Given the description of an element on the screen output the (x, y) to click on. 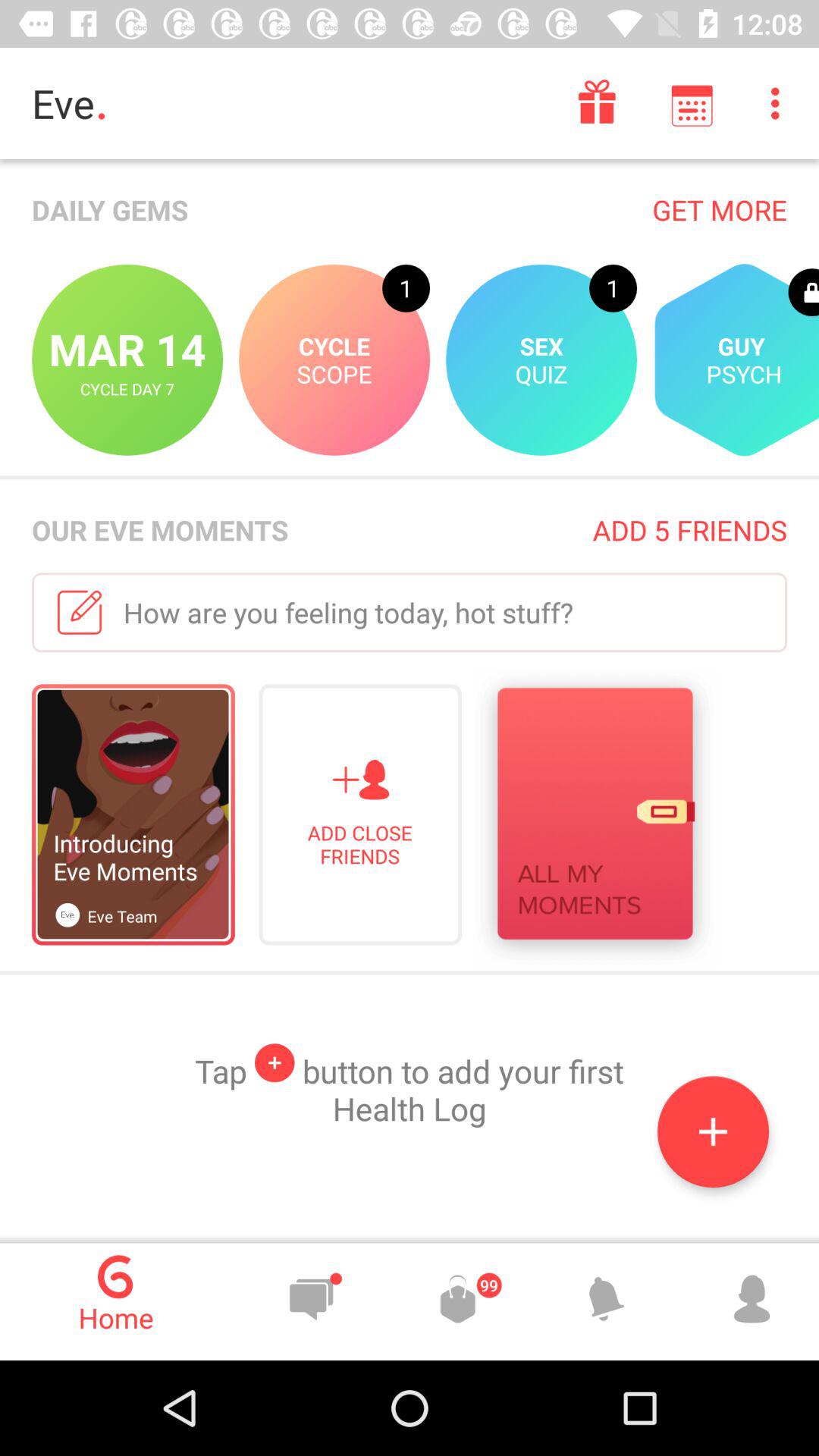
add health log (712, 1131)
